Given the description of an element on the screen output the (x, y) to click on. 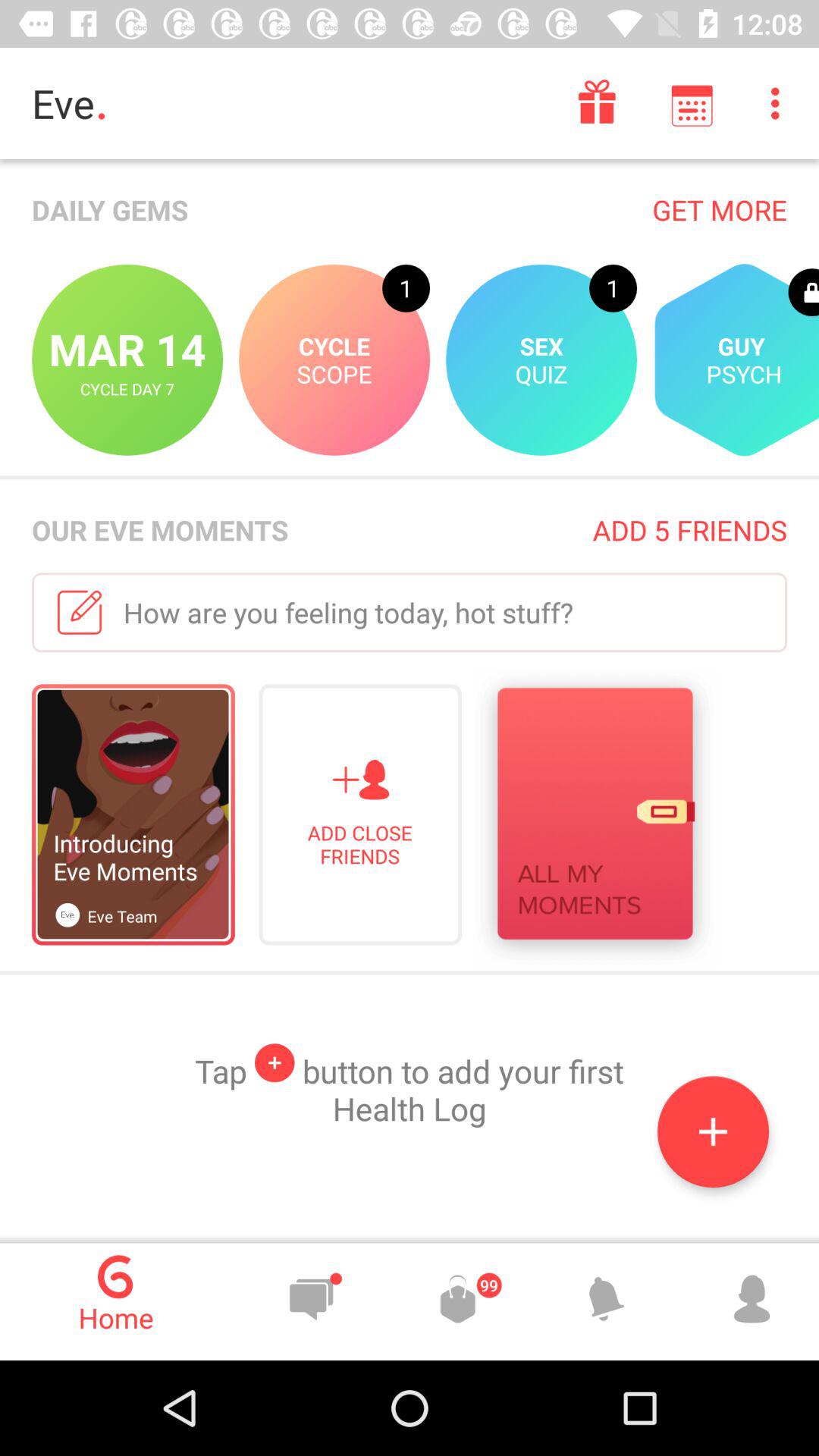
add health log (712, 1131)
